Given the description of an element on the screen output the (x, y) to click on. 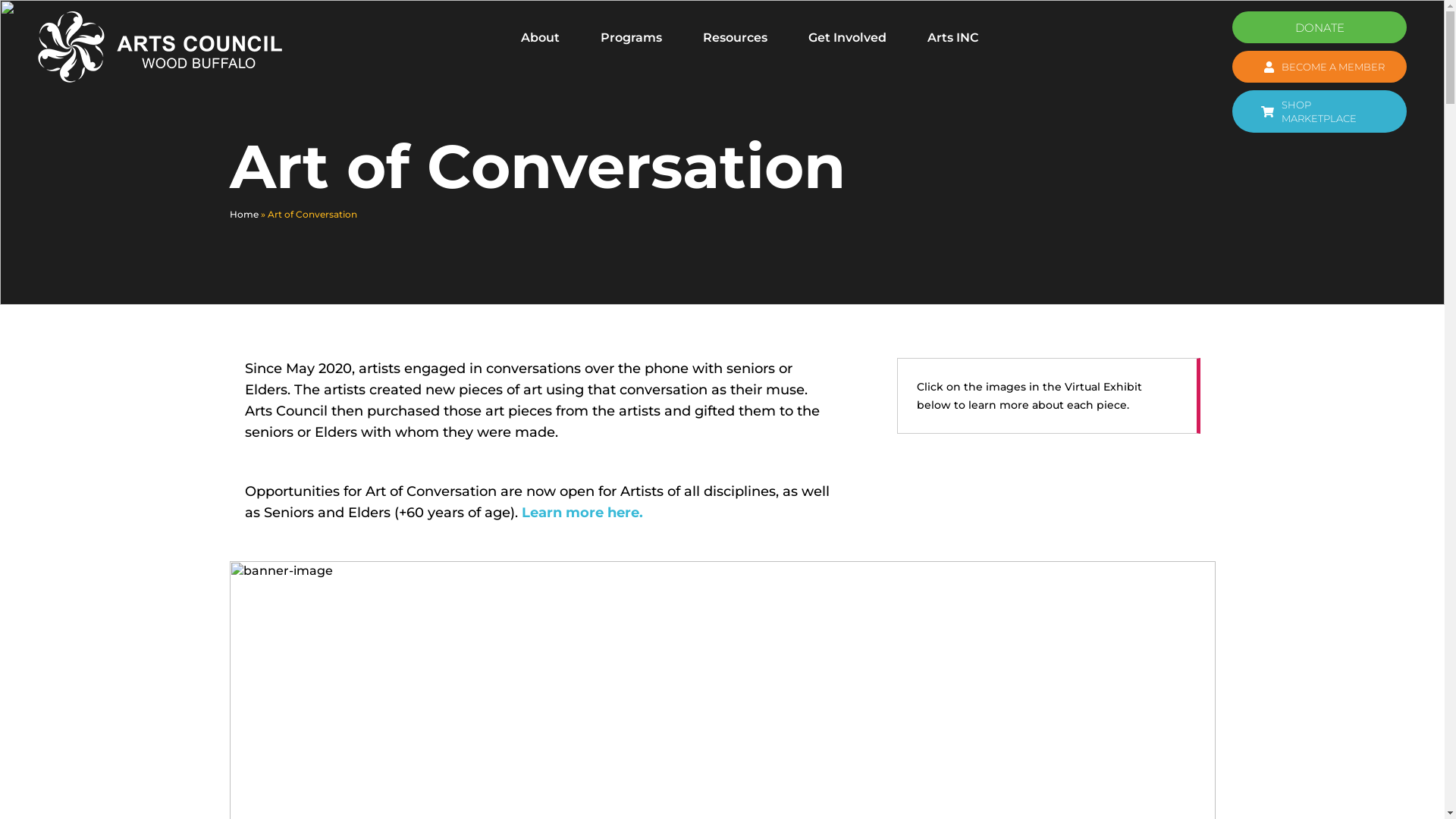
About Element type: text (539, 37)
Resources Element type: text (734, 37)
BECOME A MEMBER Element type: text (1319, 66)
SHOP
MARKETPLACE Element type: text (1319, 111)
Programs Element type: text (631, 37)
Arts INC Element type: text (952, 37)
Home Element type: text (243, 213)
DONATE Element type: text (1319, 27)
Learn more here. Element type: text (582, 512)
Get Involved Element type: text (847, 37)
